Given the description of an element on the screen output the (x, y) to click on. 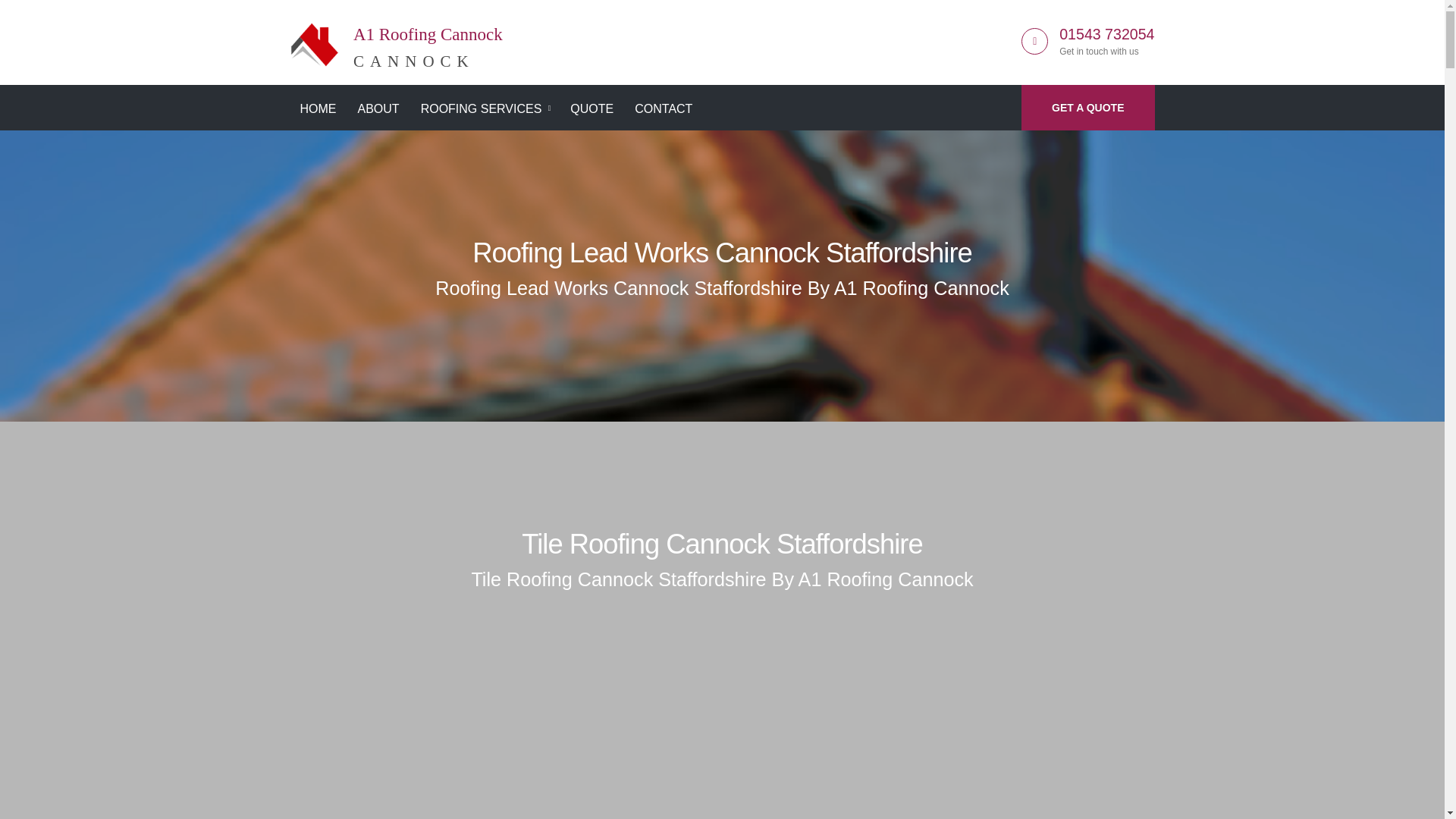
GET A QUOTE (1088, 107)
ROOFING SERVICES (484, 109)
QUOTE (591, 109)
01543 732054 (1106, 33)
ABOUT (378, 109)
CONTACT (662, 109)
Tile Roofing Cannock Staffordshire (721, 543)
HOME (317, 109)
Roofing Lead Works Cannock Staffordshire (395, 38)
